Given the description of an element on the screen output the (x, y) to click on. 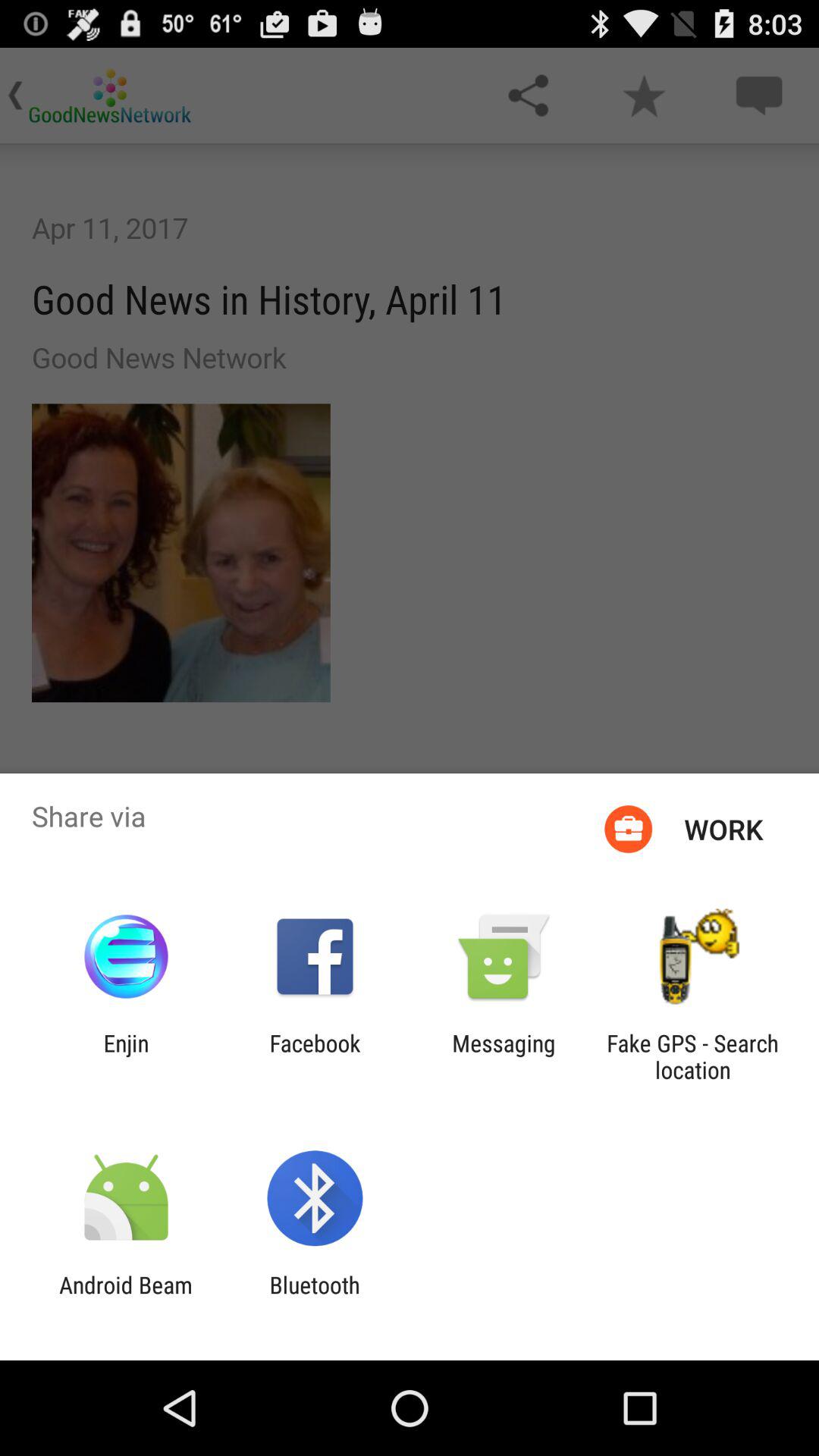
launch the icon to the left of bluetooth icon (125, 1298)
